Given the description of an element on the screen output the (x, y) to click on. 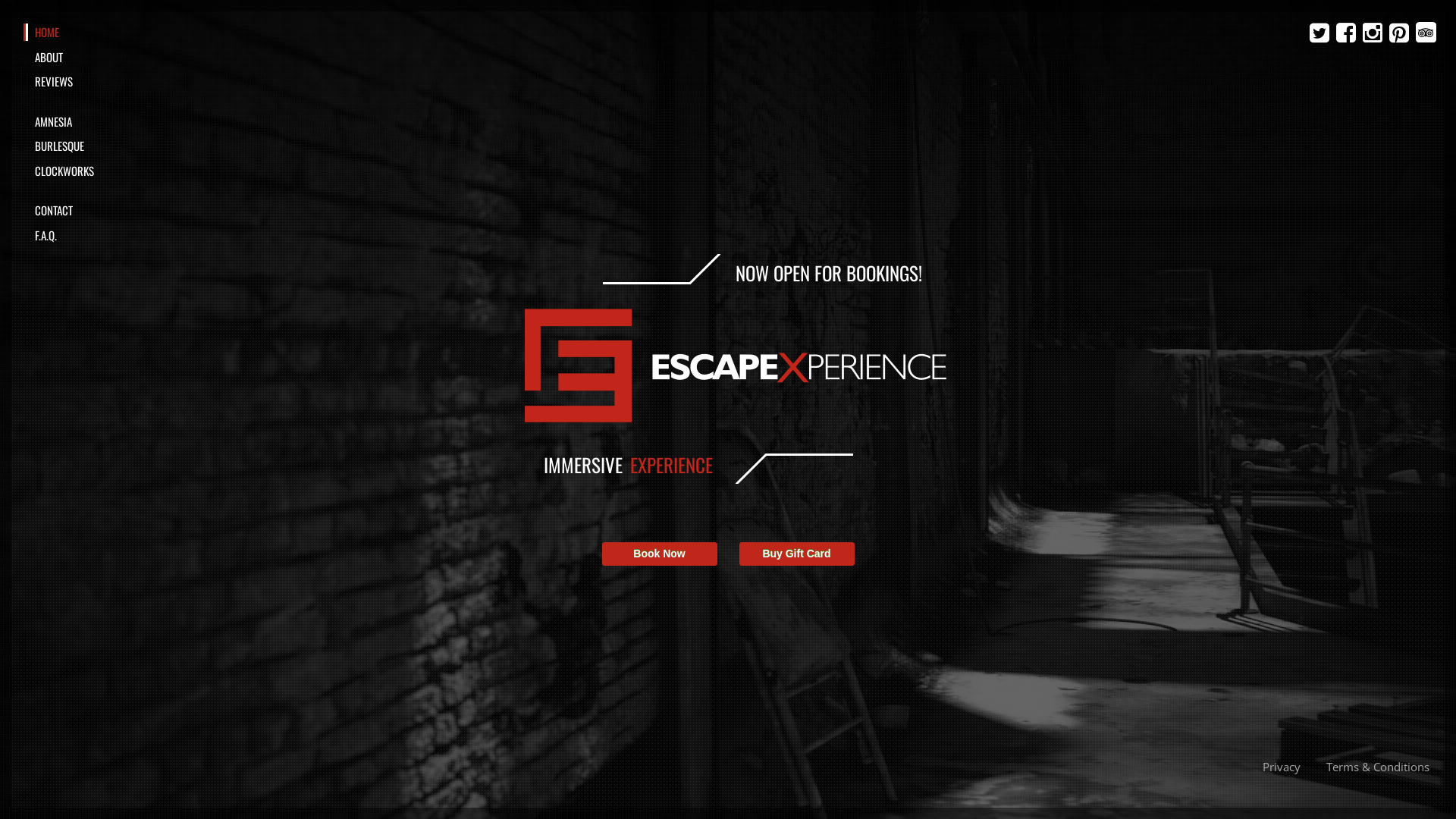
REVIEWS Element type: text (97, 81)
escapeXperience on Instagram Element type: hover (1374, 32)
Book Now Element type: text (659, 552)
escapeXperience on Pinterest Element type: hover (1400, 32)
Privacy Element type: text (1281, 765)
escapeXperience on TripAdvisor Element type: hover (1425, 32)
Buy Gift Card Element type: text (795, 552)
Terms & Conditions Element type: text (1377, 765)
F.A.Q. Element type: text (97, 234)
CLOCKWORKS Element type: text (97, 170)
CONTACT Element type: text (97, 210)
AMNESIA Element type: text (97, 120)
escapeXperience on Twitter Element type: hover (1321, 32)
  Element type: text (1425, 32)
ABOUT Element type: text (97, 56)
BURLESQUE Element type: text (97, 145)
HOME Element type: text (98, 31)
escapeXperience on Facebook Element type: hover (1347, 32)
